Given the description of an element on the screen output the (x, y) to click on. 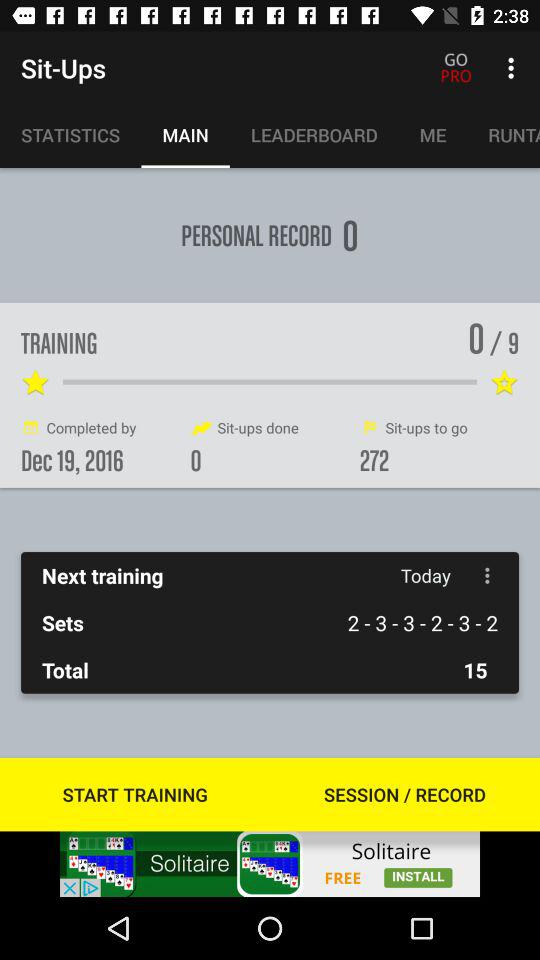
advertisement for solitaire app (270, 864)
